Given the description of an element on the screen output the (x, y) to click on. 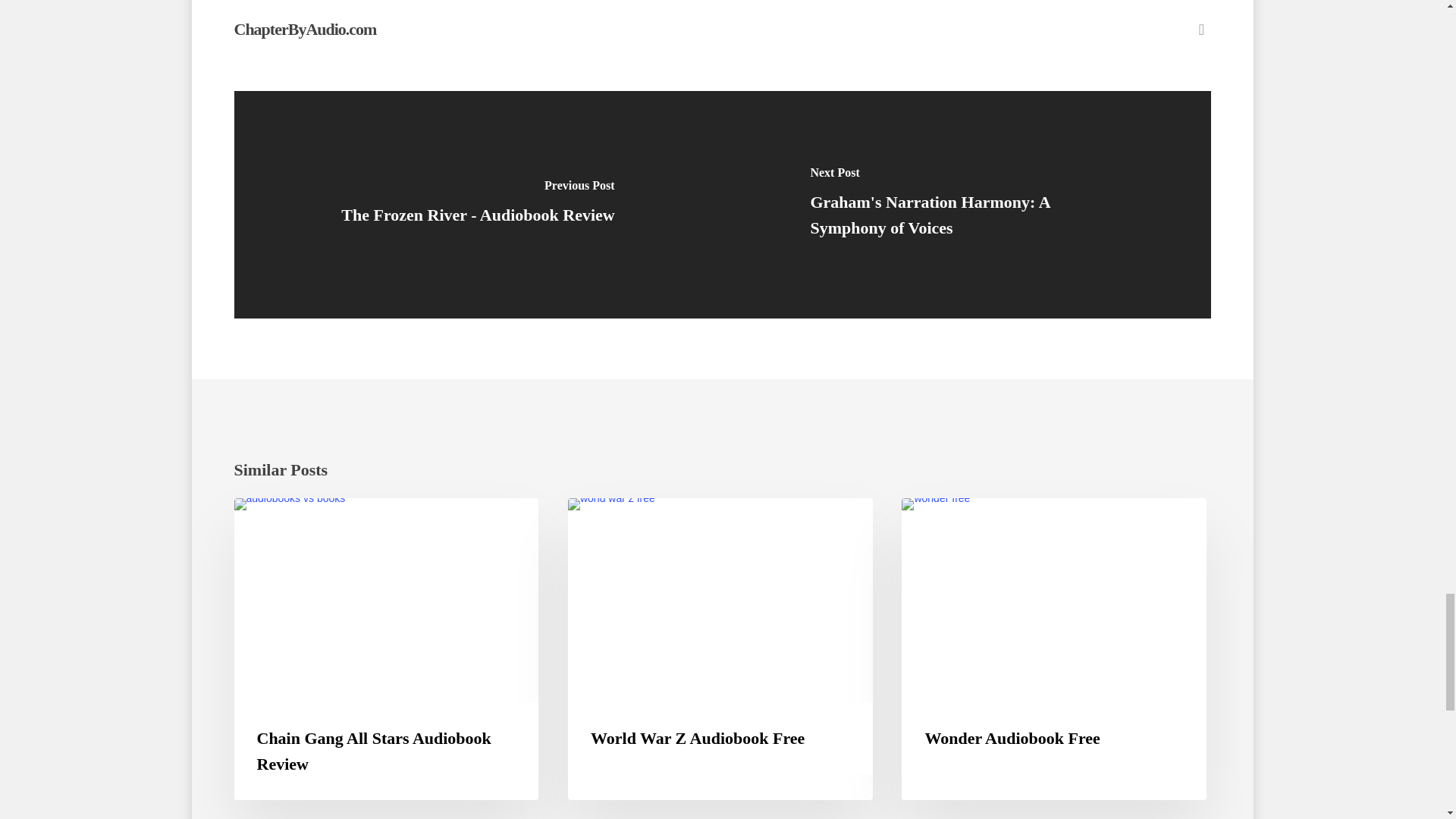
UNCATEGORIZED (631, 522)
UNCATEGORIZED (297, 522)
UNCATEGORIZED (965, 522)
